Given the description of an element on the screen output the (x, y) to click on. 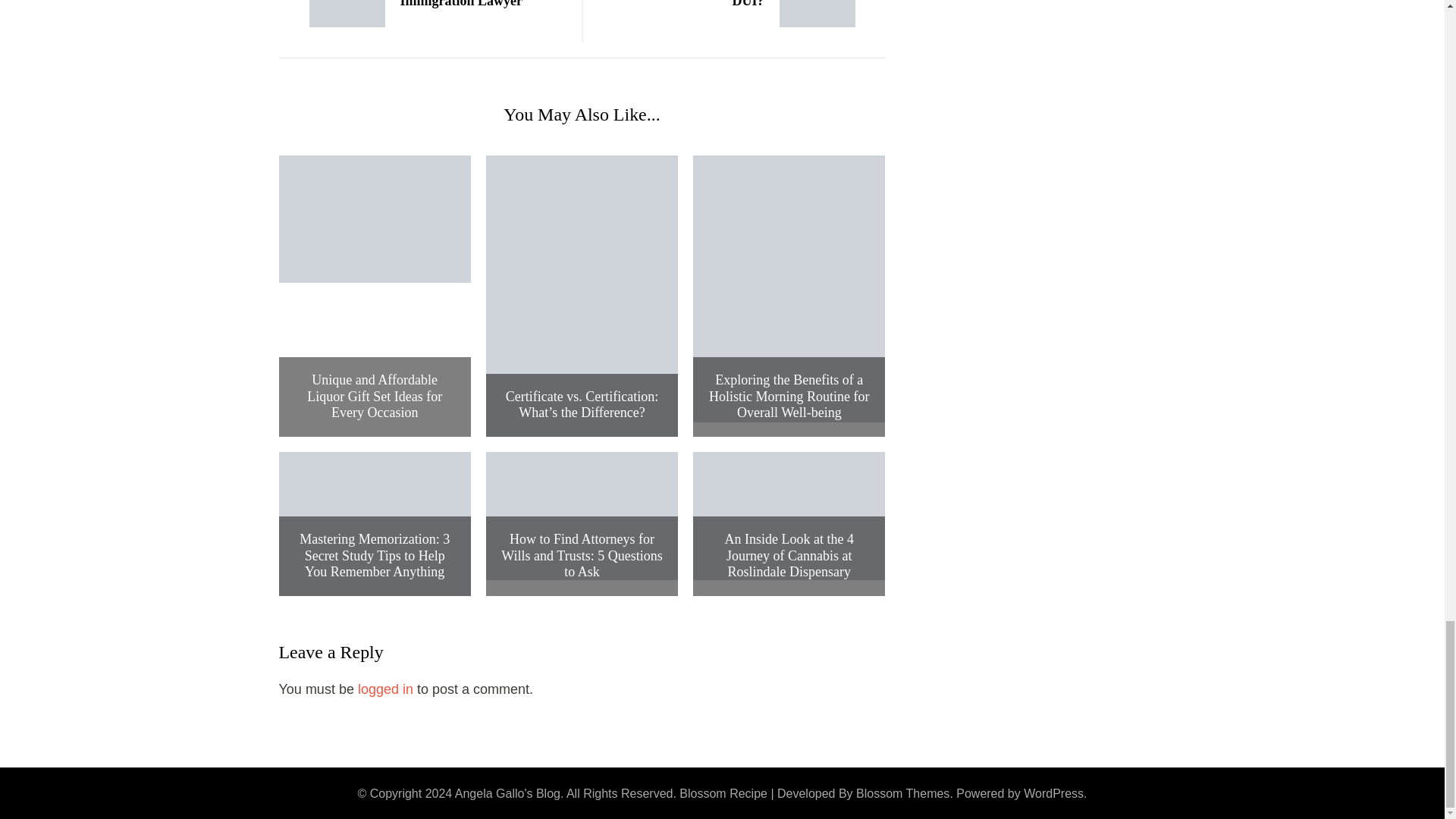
How to Find an Immigration Lawyer (423, 13)
